Given the description of an element on the screen output the (x, y) to click on. 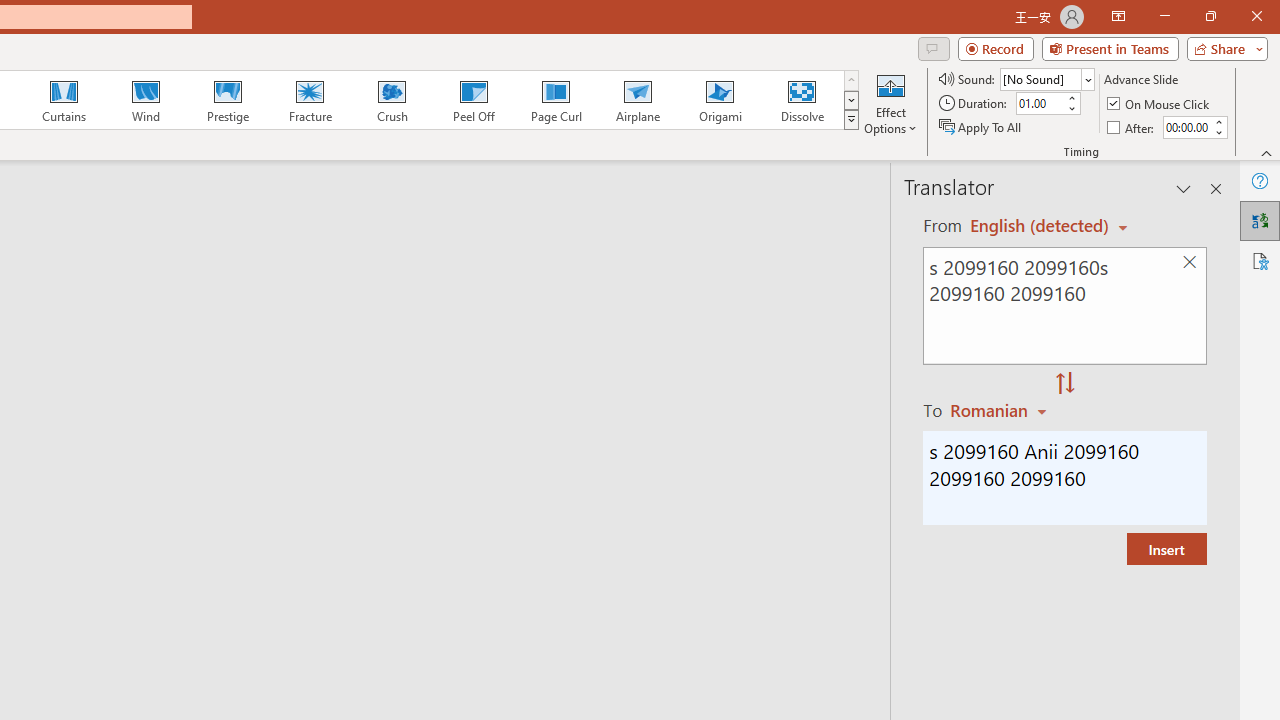
Sound (1046, 78)
